Given the description of an element on the screen output the (x, y) to click on. 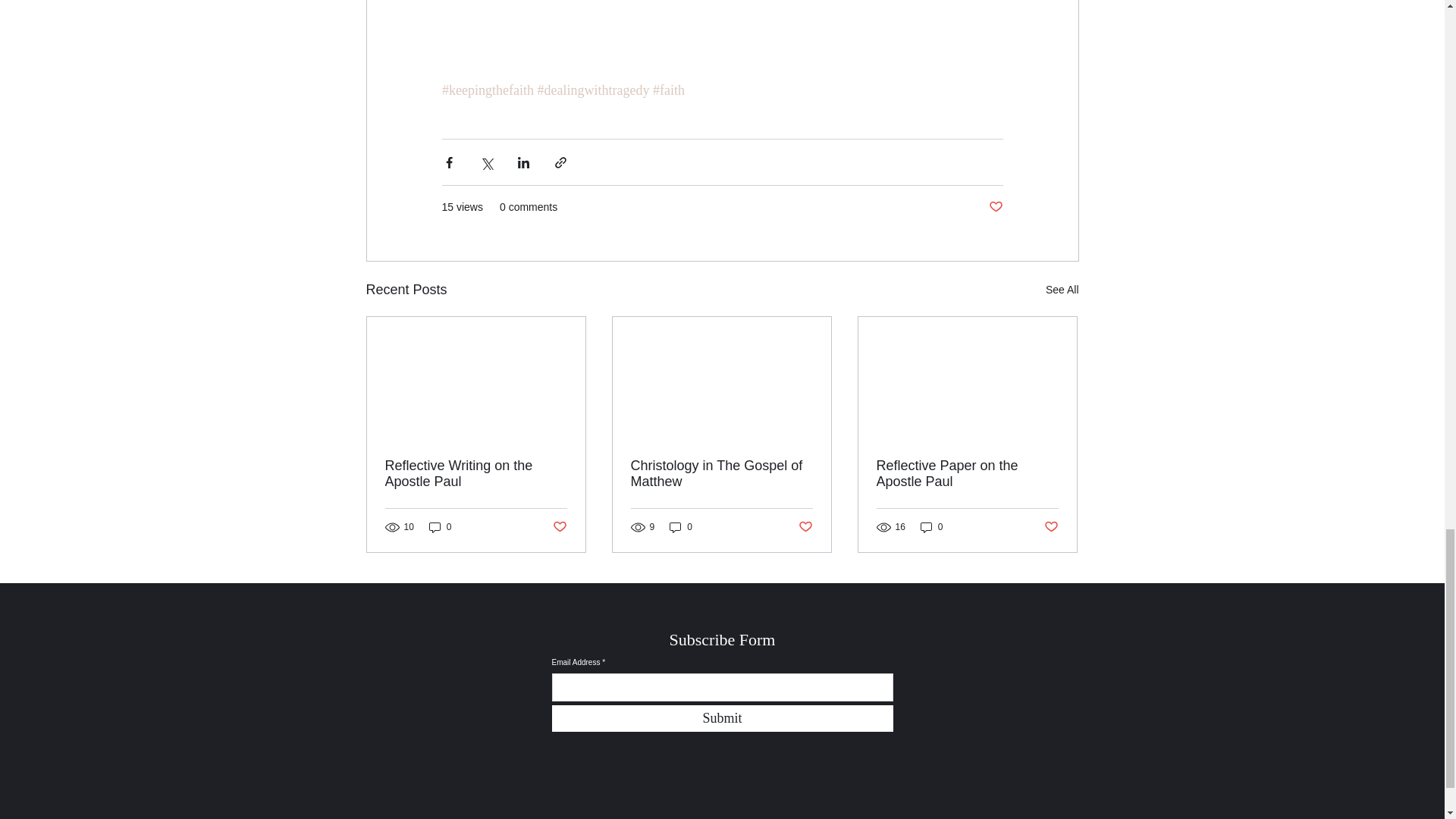
See All (1061, 290)
0 (931, 527)
Submit (722, 718)
Post not marked as liked (1050, 527)
0 (440, 527)
Post not marked as liked (804, 527)
Reflective Paper on the Apostle Paul (967, 473)
0 (681, 527)
Christology in The Gospel of Matthew (721, 473)
Post not marked as liked (558, 527)
Post not marked as liked (995, 207)
Reflective Writing on the Apostle Paul (476, 473)
